Given the description of an element on the screen output the (x, y) to click on. 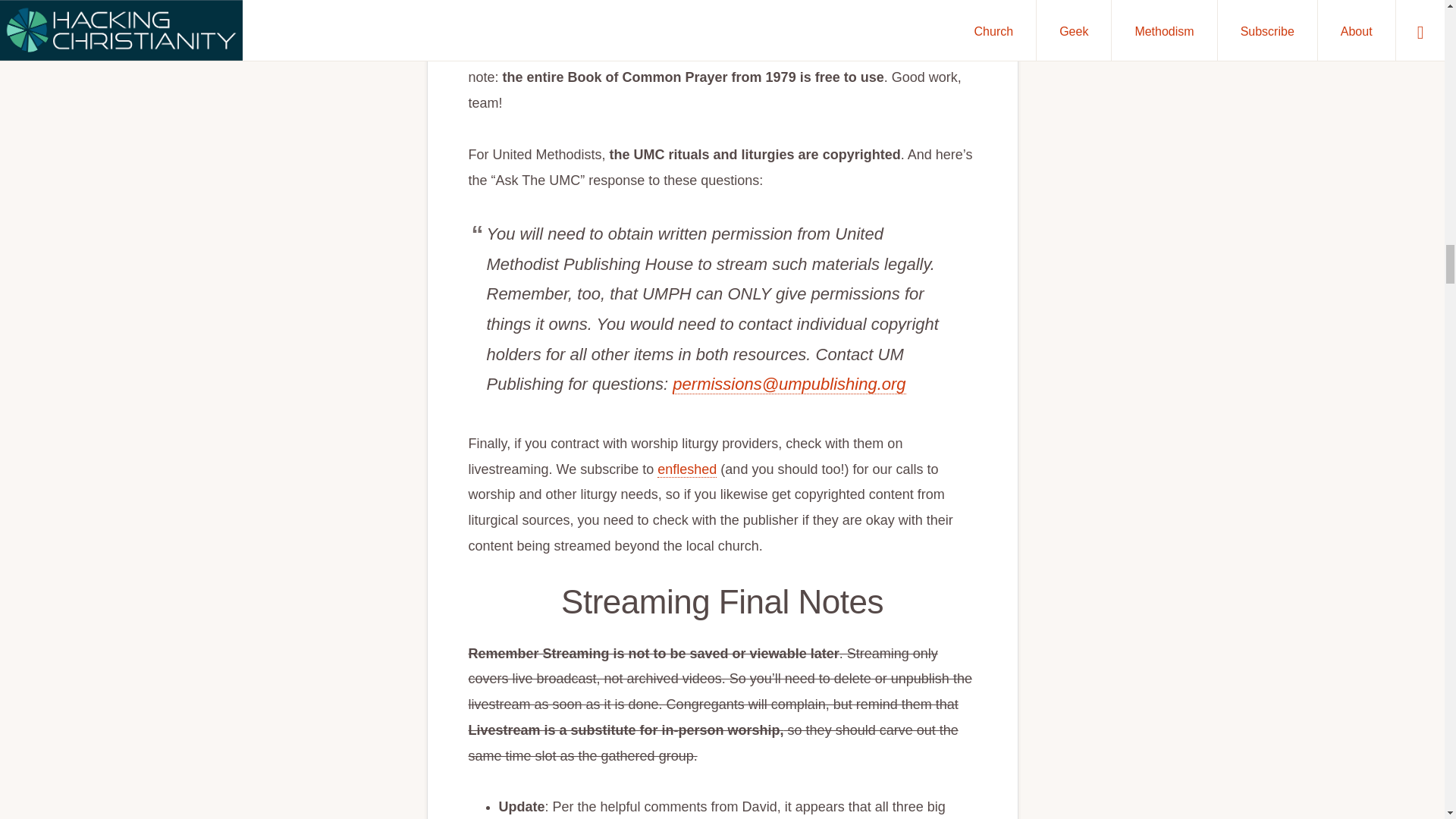
enfleshed (687, 469)
